Given the description of an element on the screen output the (x, y) to click on. 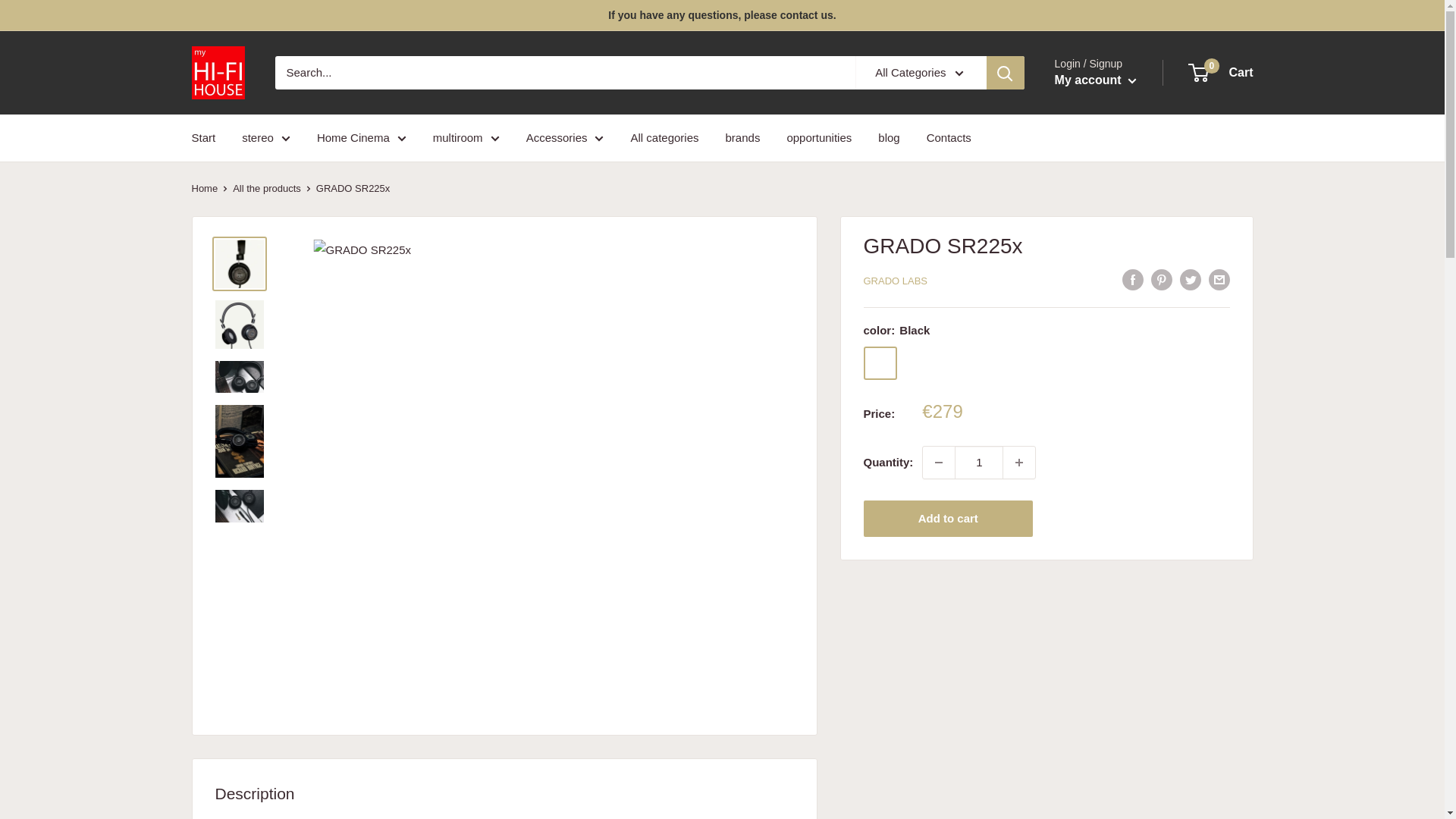
Black (879, 362)
If you have any questions, please contact us. (721, 15)
1 (979, 462)
Increase quantity by 1 (1019, 462)
Decrease amount by 1 (939, 462)
